Given the description of an element on the screen output the (x, y) to click on. 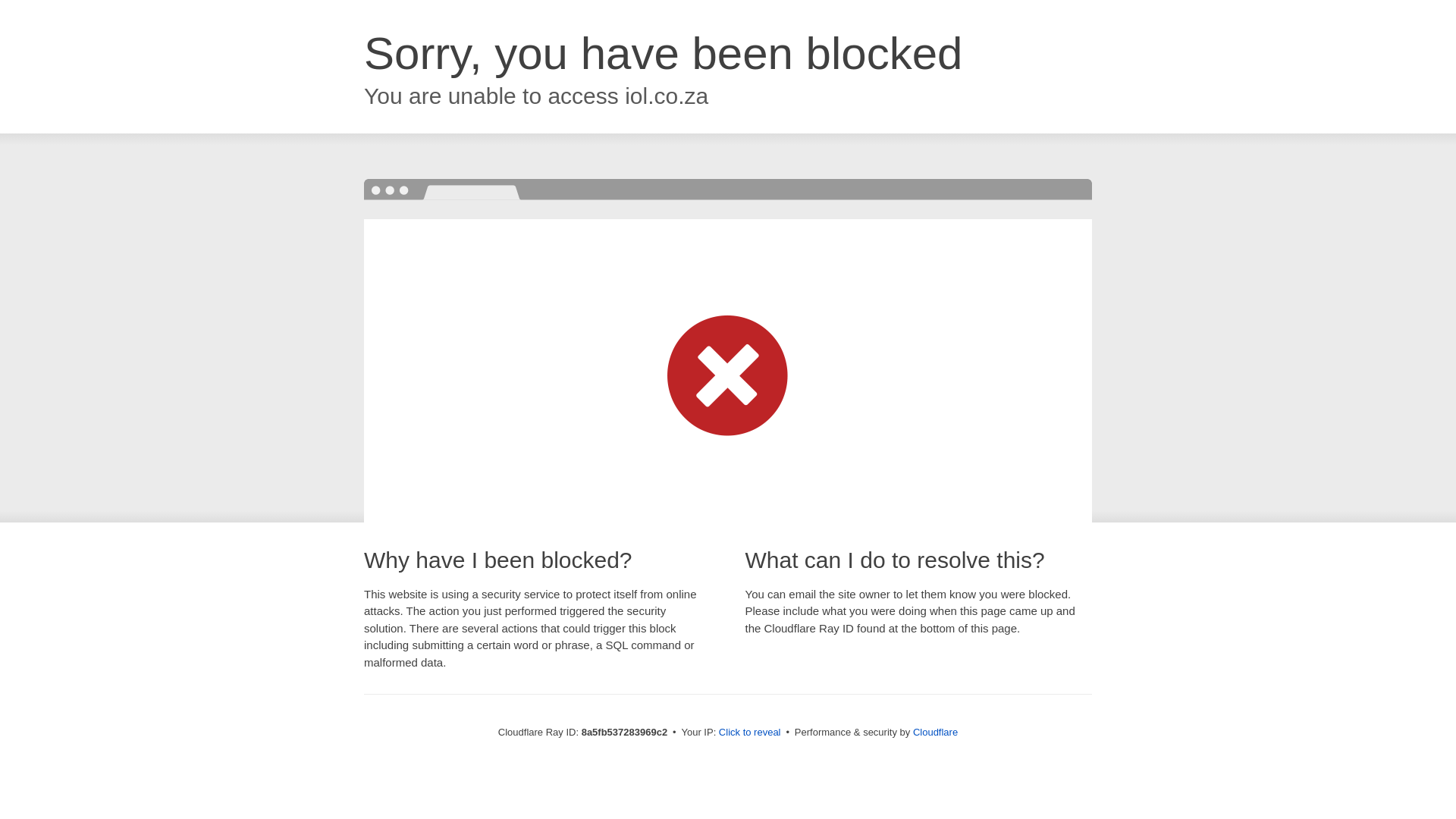
Click to reveal (749, 732)
Cloudflare (935, 731)
